Given the description of an element on the screen output the (x, y) to click on. 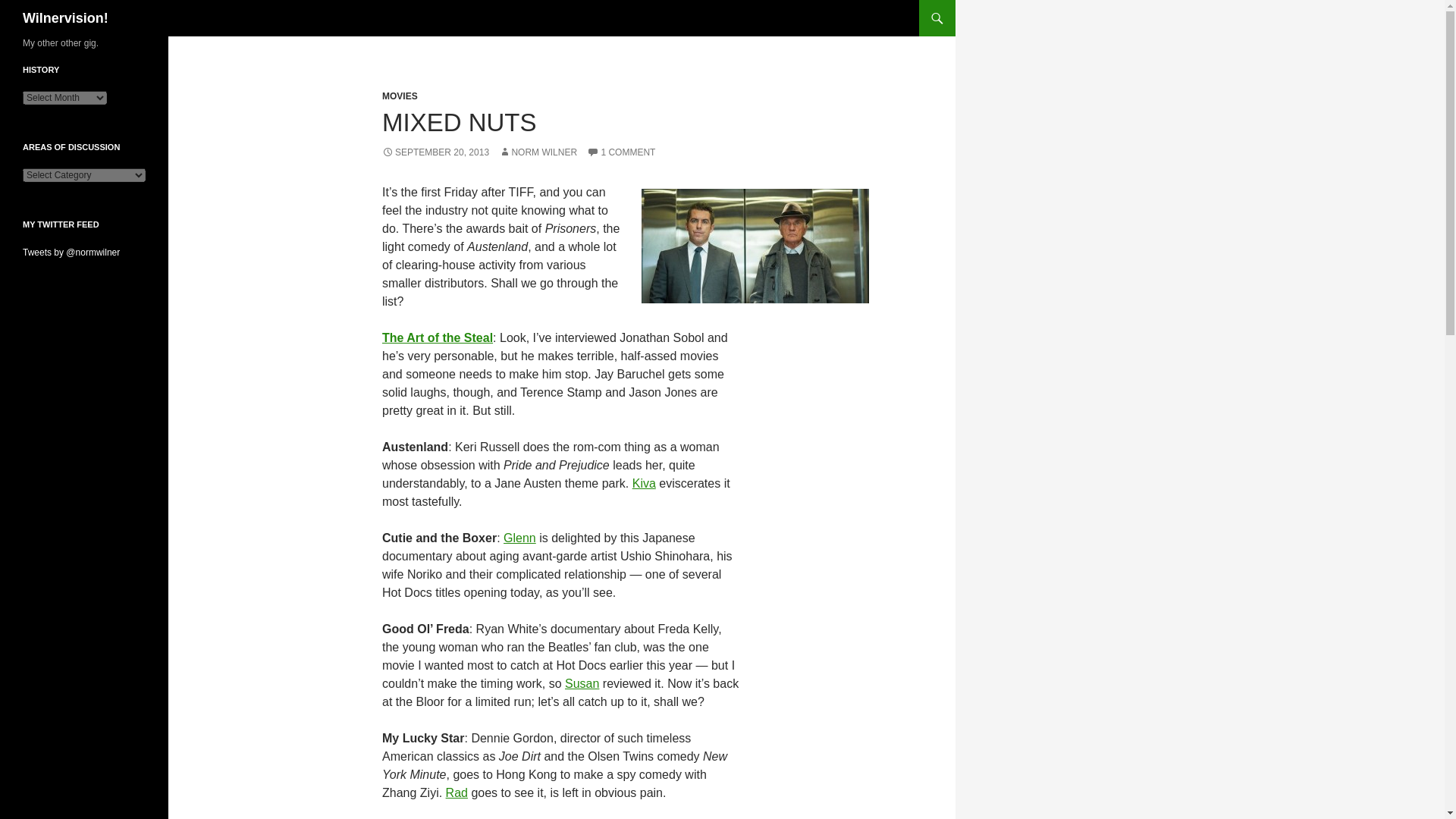
1 COMMENT (620, 152)
Rad (456, 792)
Don't mind us, we're just waiting on a better script (755, 246)
Kiva (643, 482)
NORM WILNER (537, 152)
Wilnervision! (65, 18)
Glenn (519, 537)
MOVIES (399, 95)
The Art of the Steal (437, 337)
Susan (581, 683)
